Given the description of an element on the screen output the (x, y) to click on. 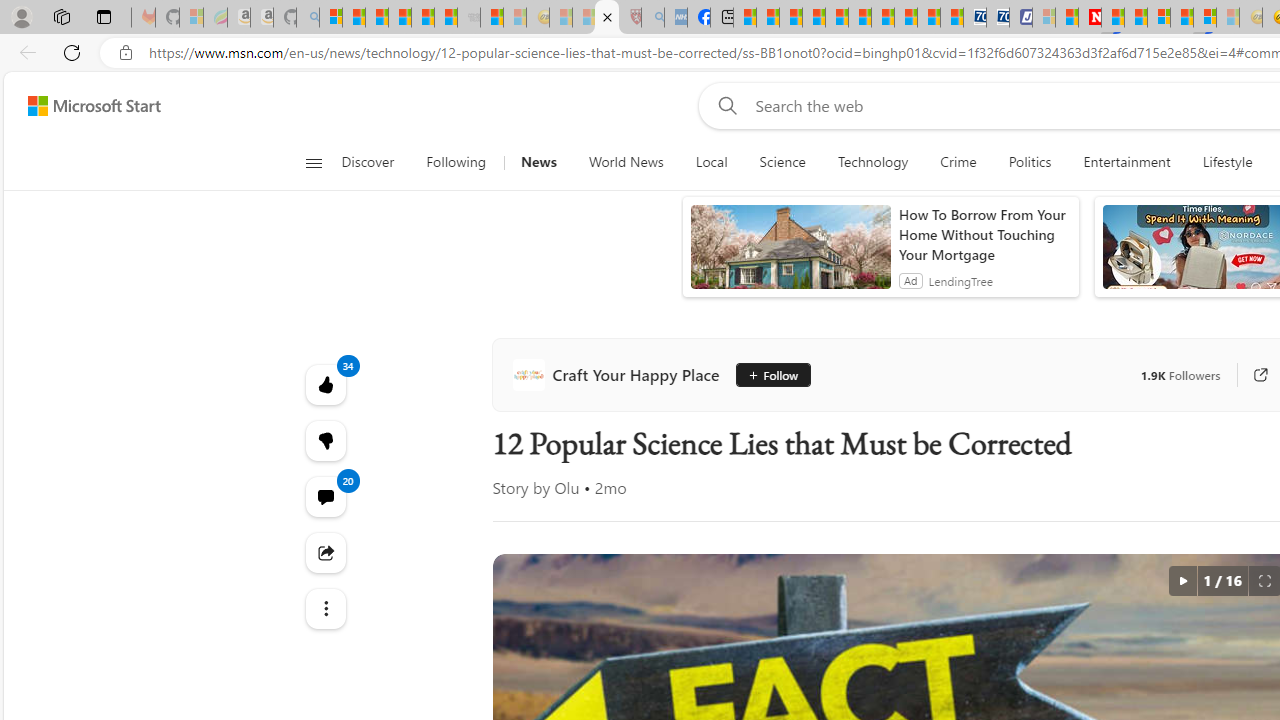
34 (324, 440)
New Report Confirms 2023 Was Record Hot | Watch (422, 17)
Go to publisher's site (1260, 374)
Share this story (324, 552)
